Given the description of an element on the screen output the (x, y) to click on. 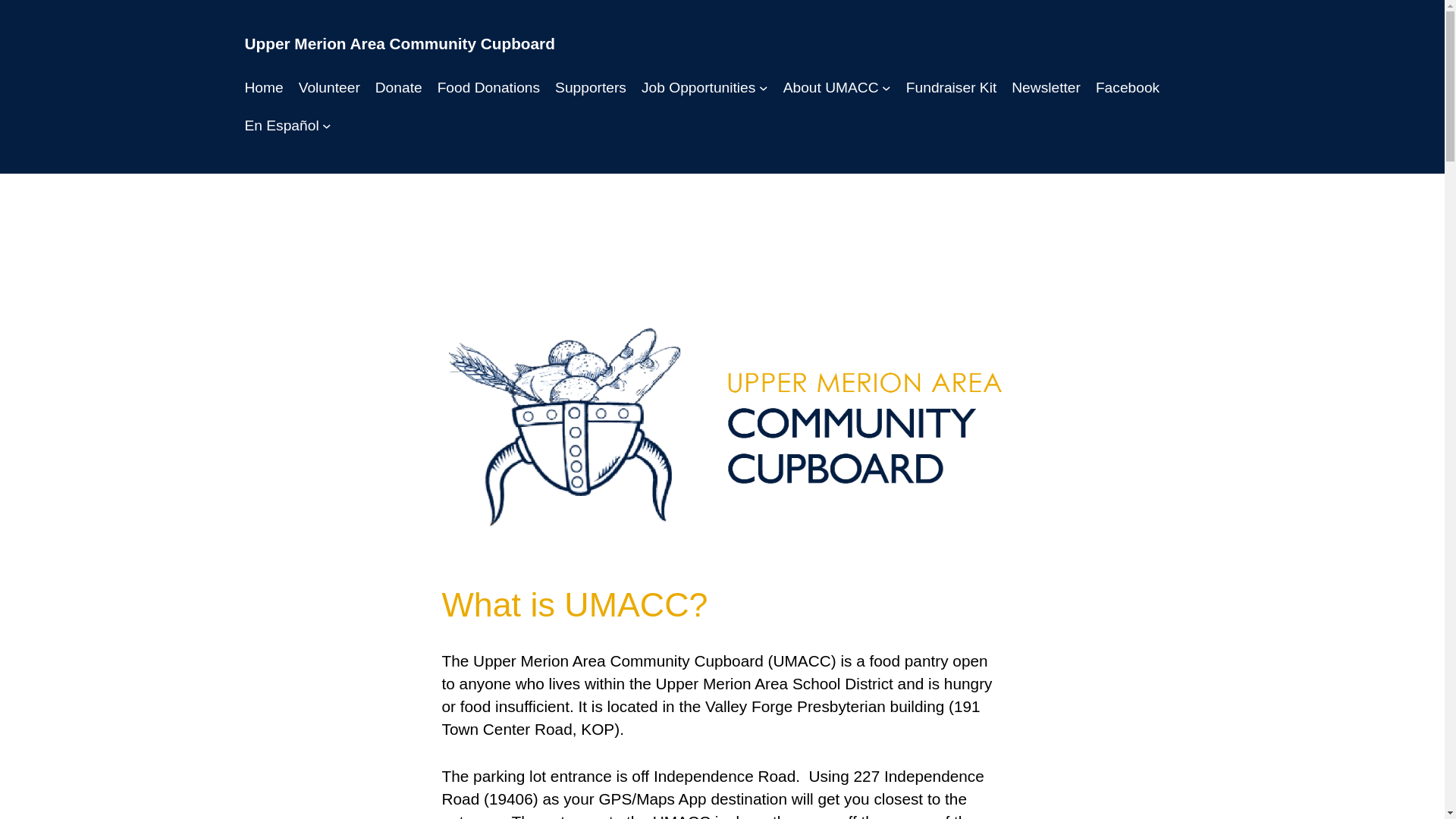
Supporters (590, 87)
Fundraiser Kit (950, 87)
Home (263, 87)
About UMACC (831, 87)
Facebook (1127, 87)
Volunteer (328, 87)
Upper Merion Area Community Cupboard (399, 43)
Newsletter (1045, 87)
Donate (398, 87)
Job Opportunities (698, 87)
